Given the description of an element on the screen output the (x, y) to click on. 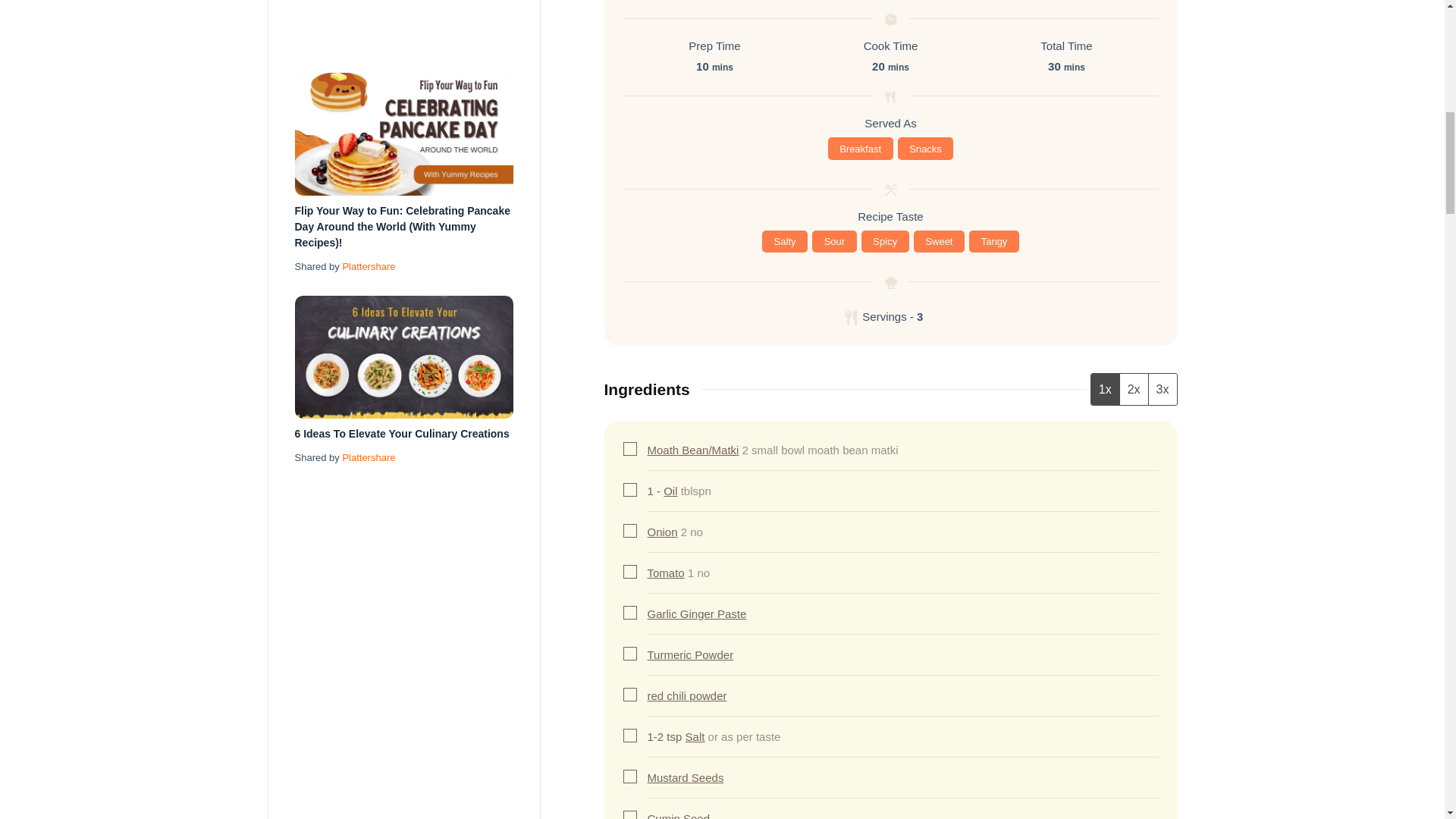
Salty (784, 241)
Snacks (925, 148)
Spicy (884, 241)
Breakfast (860, 148)
Sour (834, 241)
Tangy (994, 241)
Sweet (938, 241)
